Given the description of an element on the screen output the (x, y) to click on. 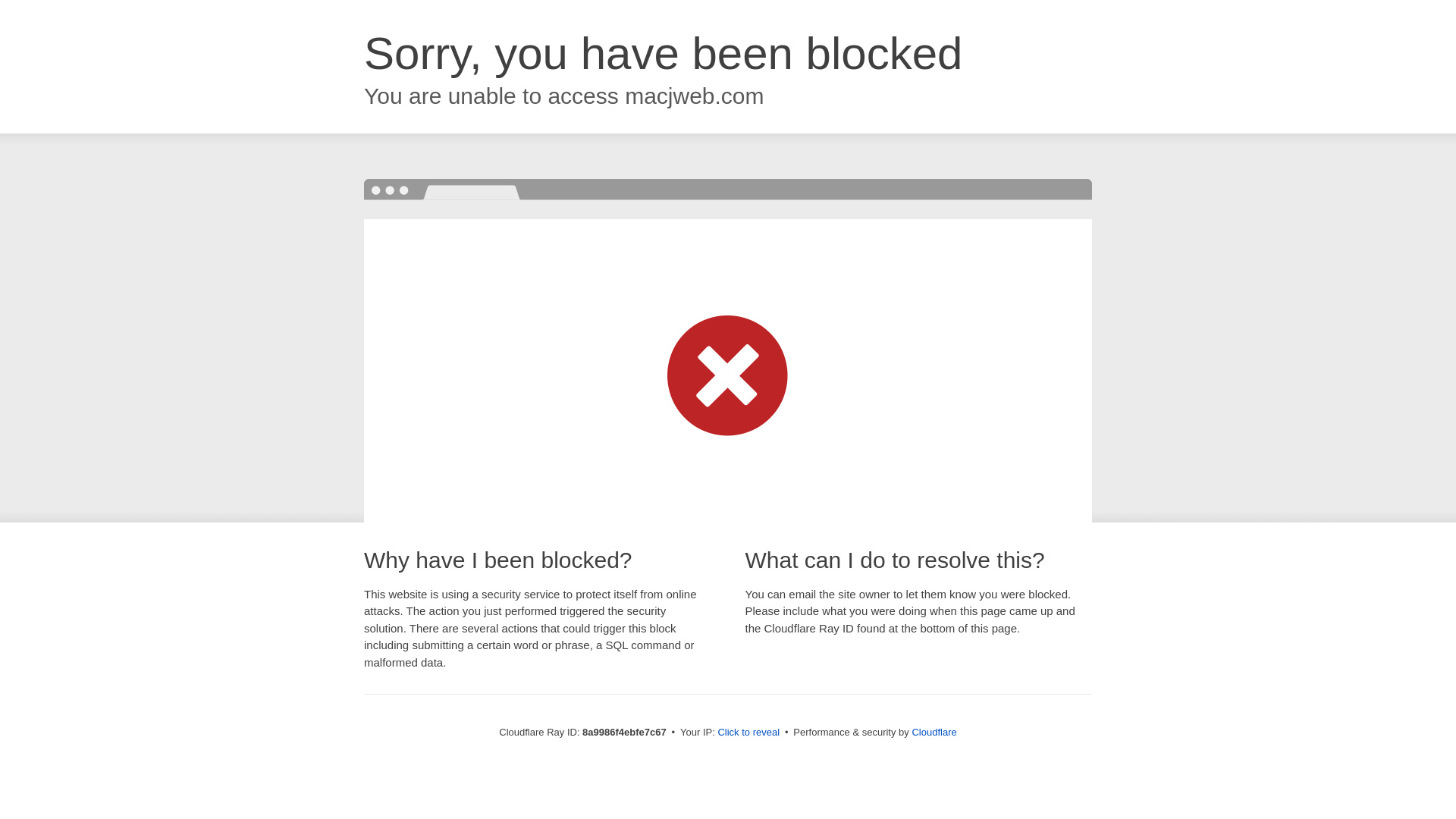
Click to reveal (747, 732)
Cloudflare (933, 731)
